Given the description of an element on the screen output the (x, y) to click on. 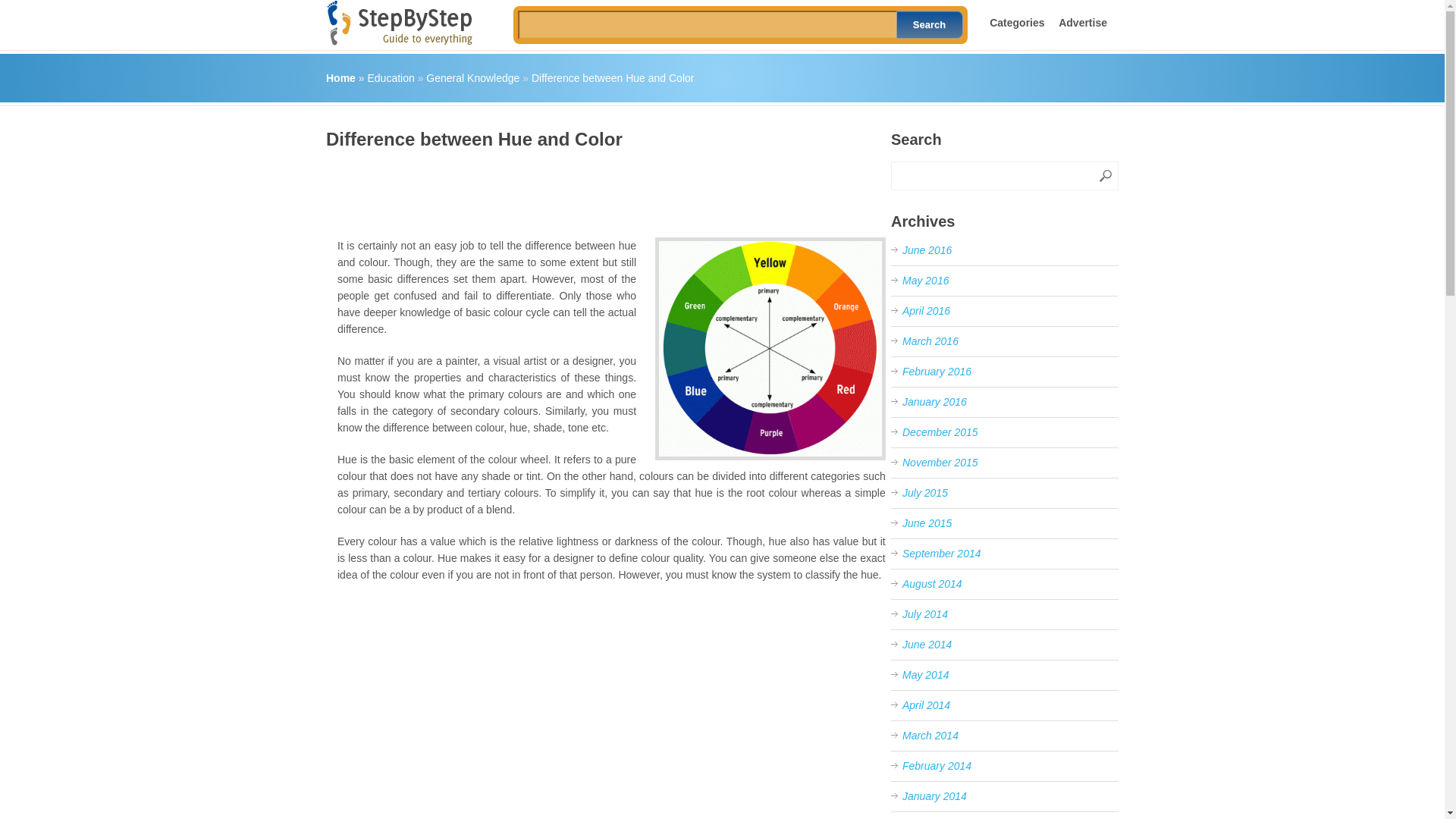
June 2016 (927, 250)
March 2016 (930, 340)
April 2016 (926, 310)
Home (340, 78)
July 2015 (924, 492)
Education (389, 78)
View all posts in General Knowledge (472, 78)
November 2015 (940, 462)
View all posts in Education (389, 78)
December 2015 (940, 431)
February 2016 (936, 371)
Advertisement (601, 187)
Difference between Hue and Color (612, 78)
Advertise (1082, 22)
September 2014 (941, 553)
